Given the description of an element on the screen output the (x, y) to click on. 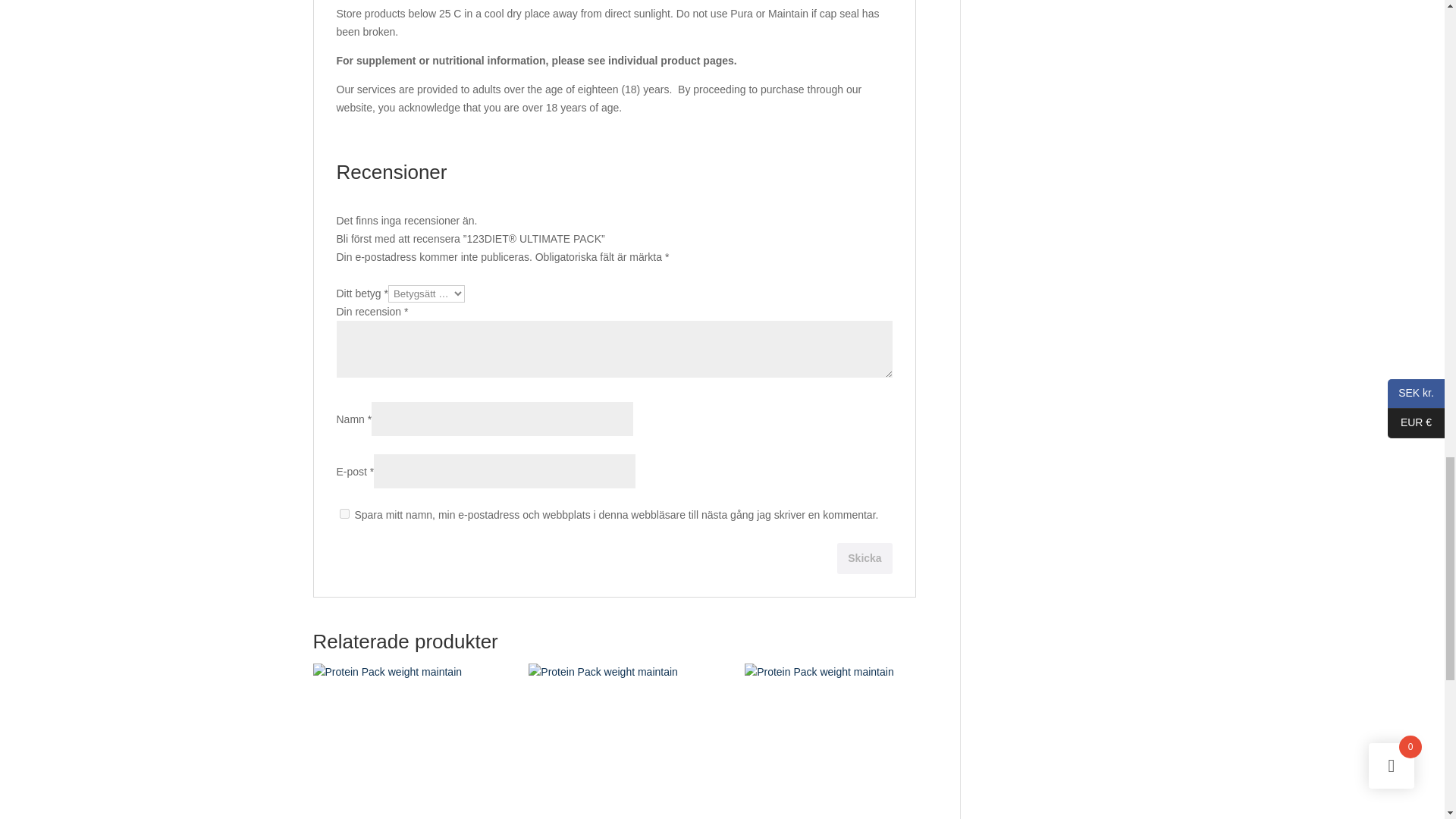
Skicka (864, 558)
Skicka (864, 558)
yes (344, 513)
